Given the description of an element on the screen output the (x, y) to click on. 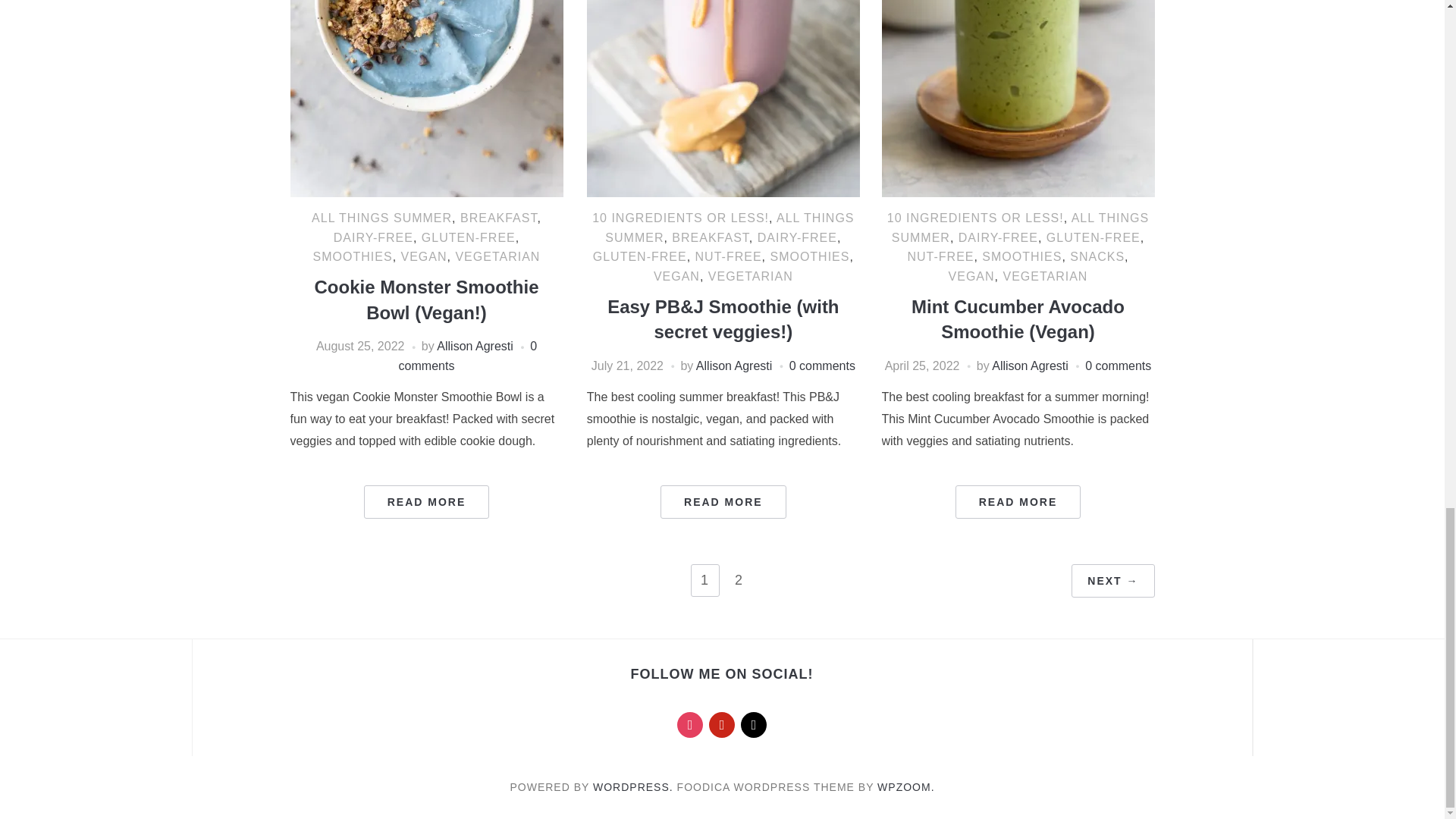
Posts by Allison Agresti (474, 345)
Posts by Allison Agresti (734, 365)
